Given the description of an element on the screen output the (x, y) to click on. 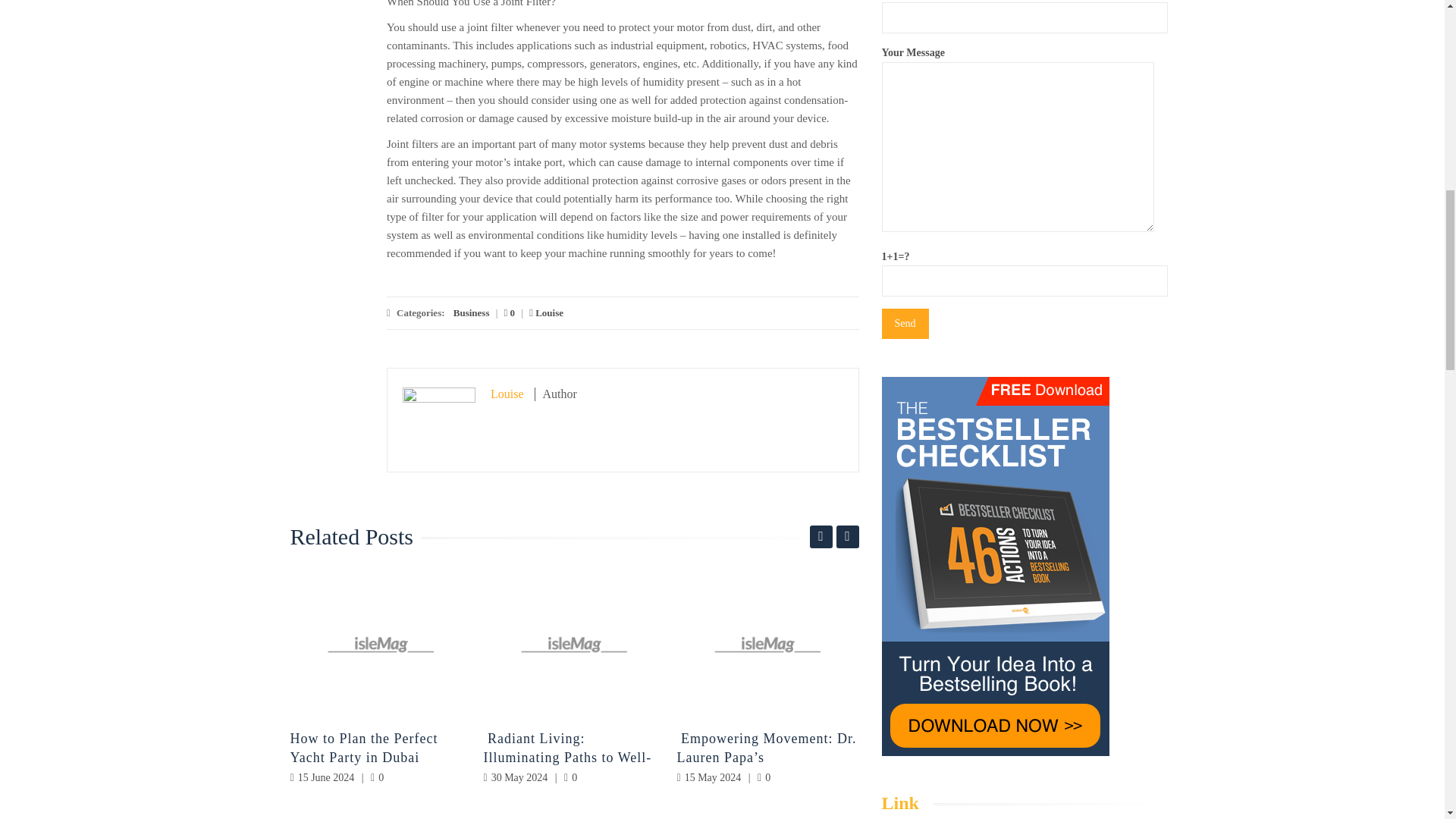
How to Plan the Perfect Yacht Party in Dubai (380, 644)
0 (570, 777)
How to Plan the Perfect Yacht Party in Dubai (363, 747)
Business (470, 312)
0 (509, 312)
Send (904, 323)
Louise (546, 312)
0 (377, 777)
Louise (507, 393)
0 (763, 777)
